Given the description of an element on the screen output the (x, y) to click on. 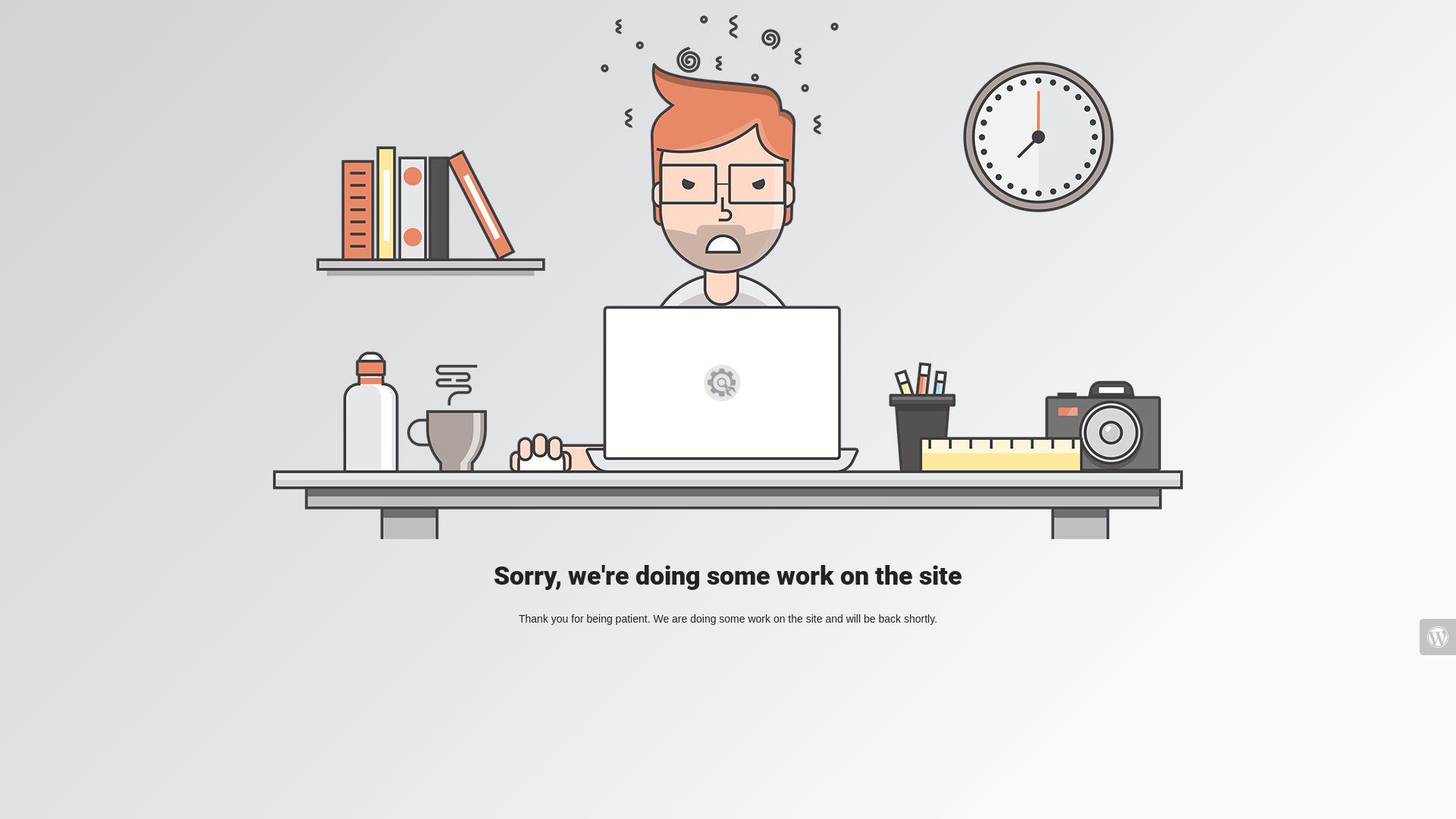
Mad Designer at work Element type: hover (728, 277)
